Given the description of an element on the screen output the (x, y) to click on. 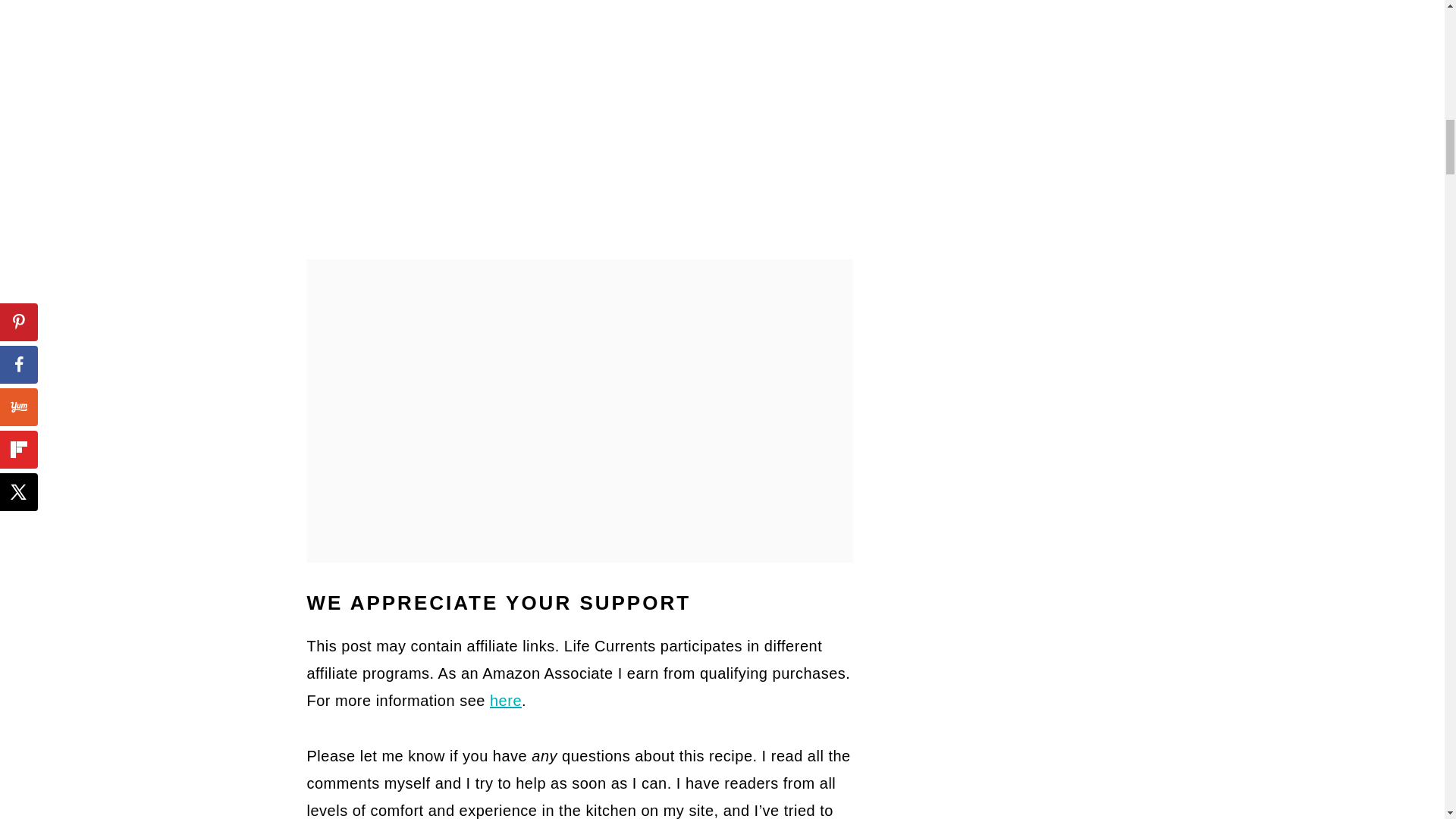
here (505, 700)
